Given the description of an element on the screen output the (x, y) to click on. 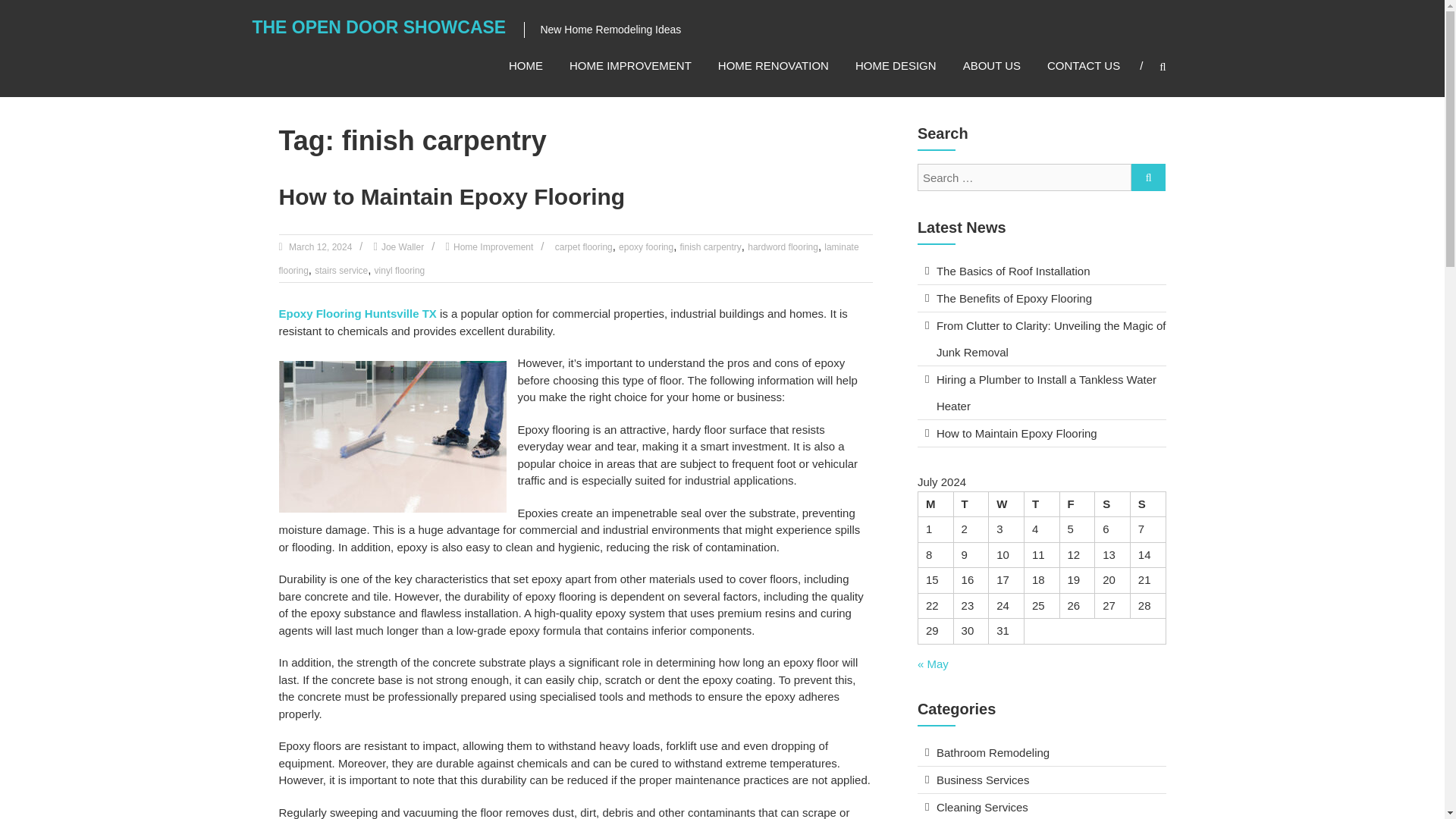
HOME DESIGN (896, 65)
Monday (935, 503)
carpet flooring (583, 246)
ABOUT US (991, 65)
Joe Waller (402, 246)
Saturday (1112, 503)
The Open Door Showcase (378, 26)
How to Maintain Epoxy Flooring (1016, 432)
Thursday (1041, 503)
Search (1232, 409)
HOME IMPROVEMENT (630, 65)
1:42 pm (319, 246)
stairs service (341, 270)
Bathroom Remodeling (992, 752)
Cleaning Services (981, 807)
